Given the description of an element on the screen output the (x, y) to click on. 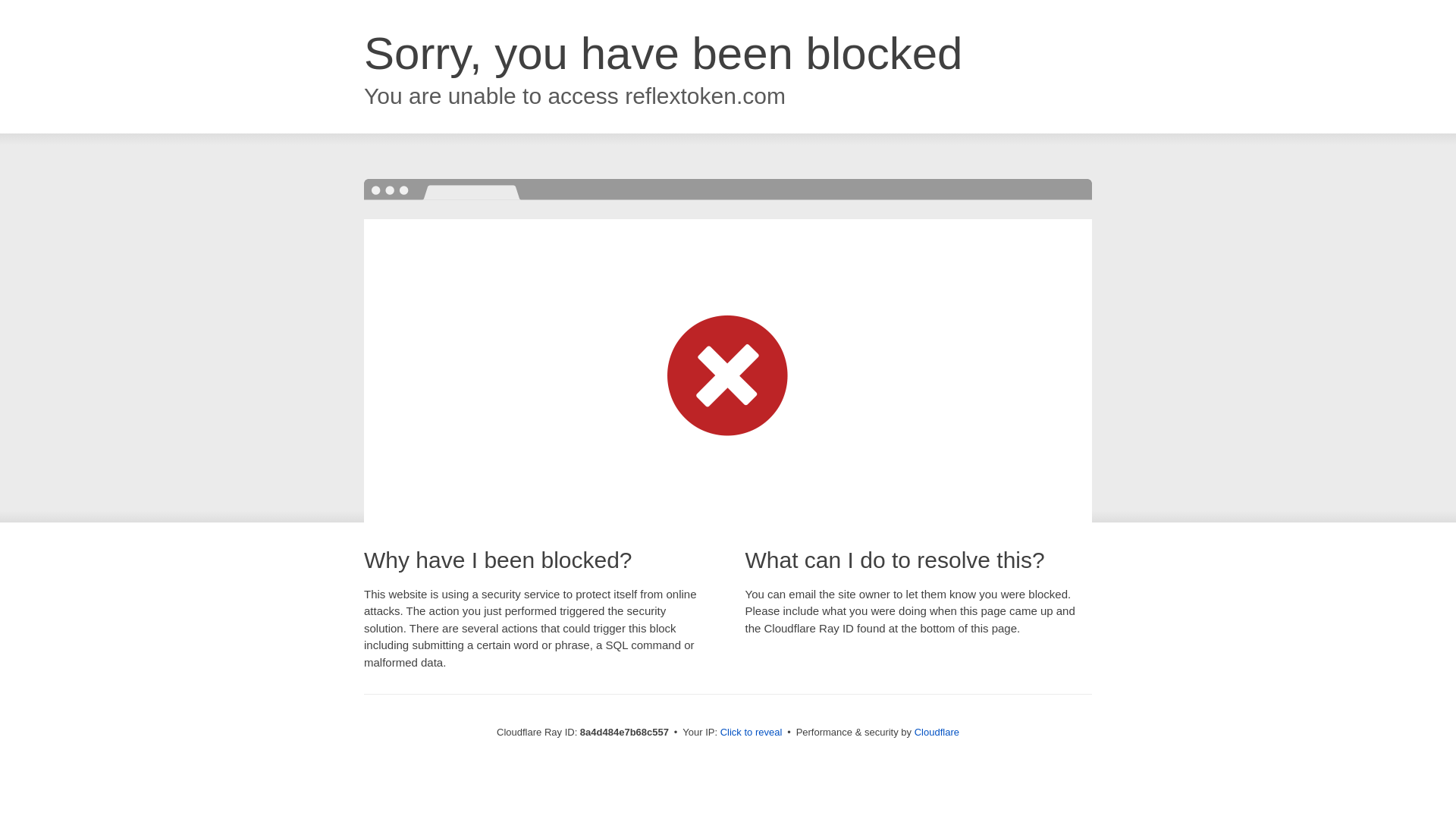
Cloudflare (936, 731)
Click to reveal (751, 732)
